Given the description of an element on the screen output the (x, y) to click on. 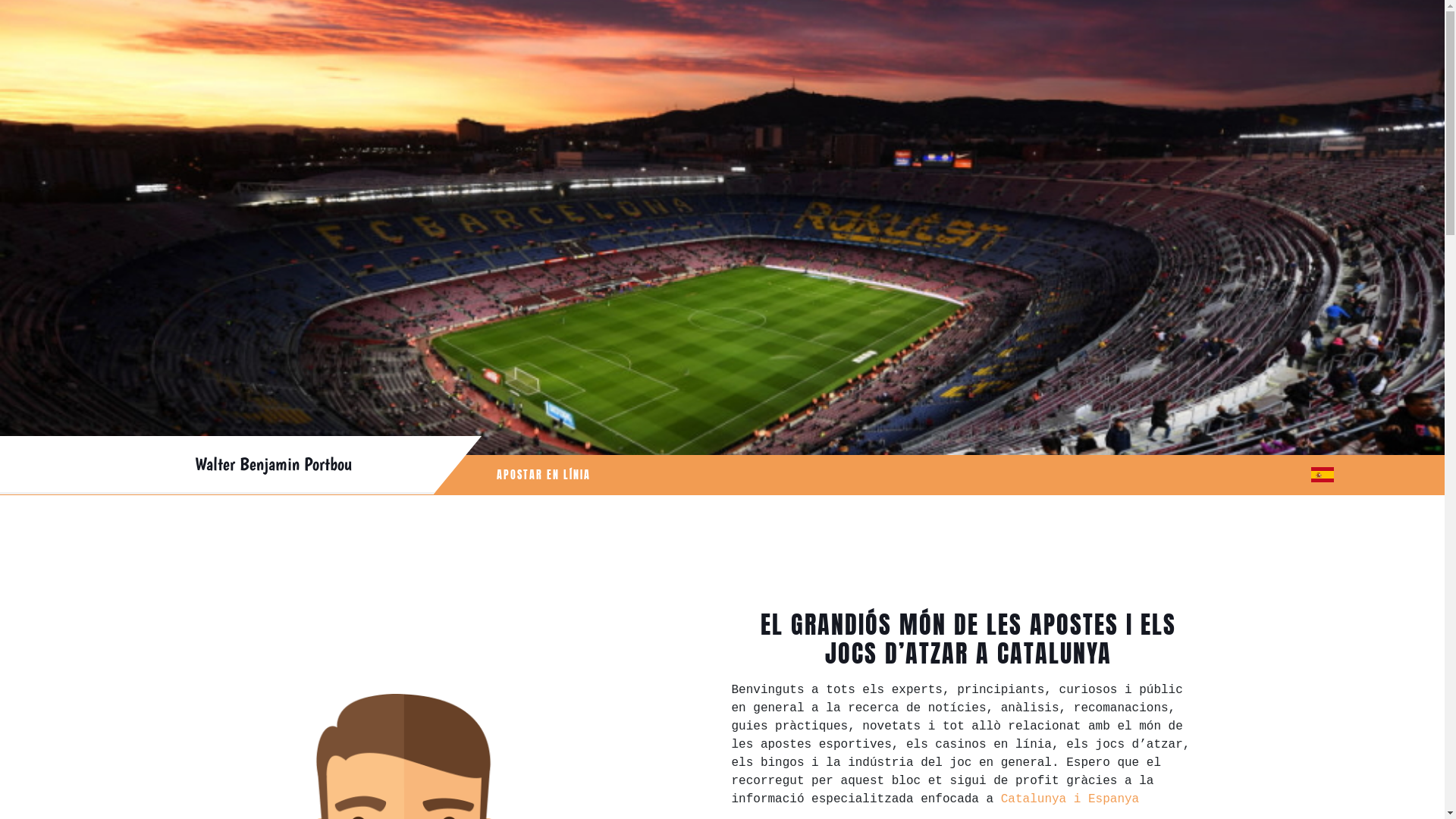
Catalunya i Espanya Element type: text (1070, 799)
Walter Benjamin Portbou Element type: text (272, 463)
